Given the description of an element on the screen output the (x, y) to click on. 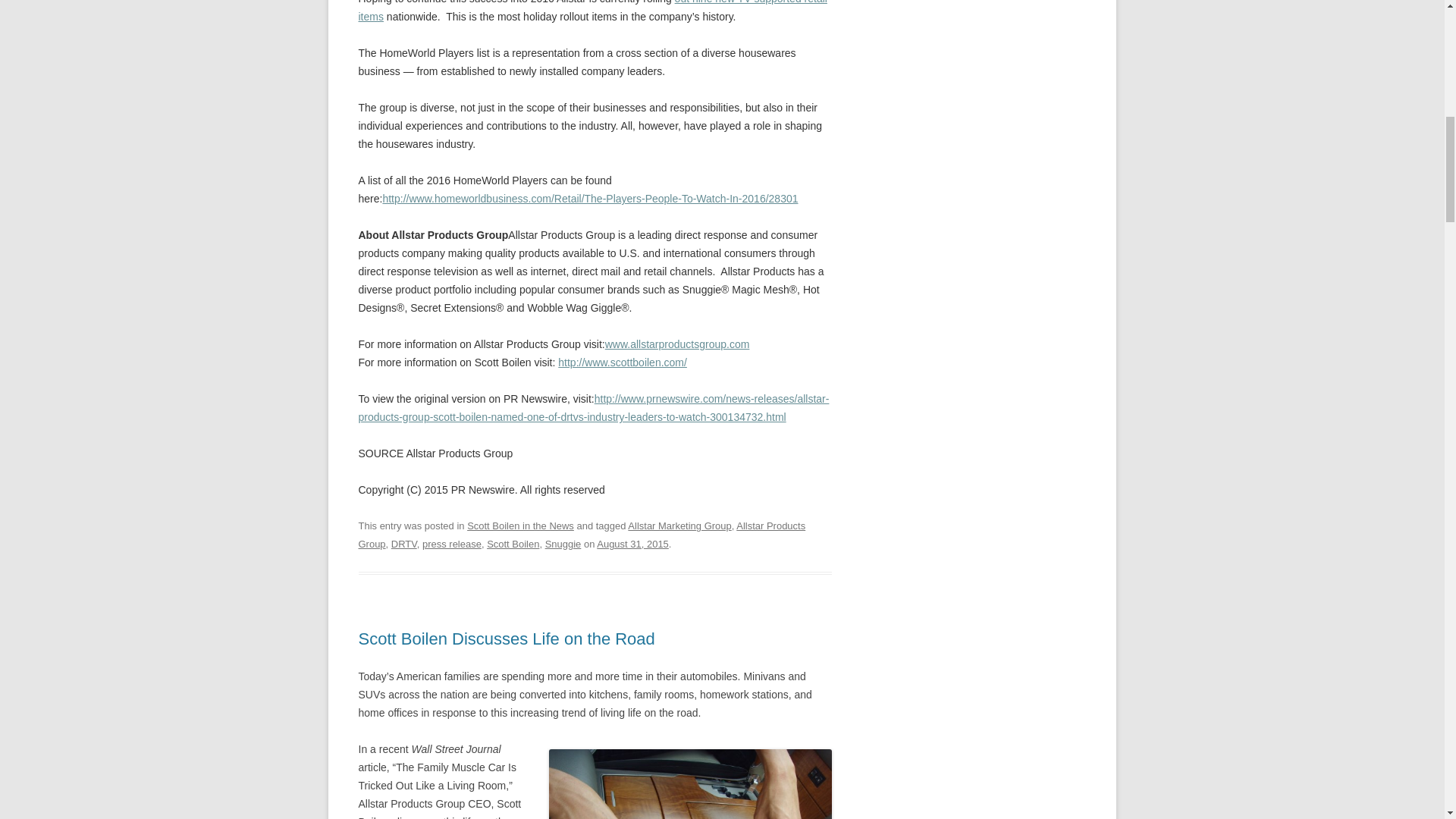
out nine new TV-supported retail items (592, 11)
press release (451, 543)
DRTV (403, 543)
Scott Boilen (512, 543)
August 31, 2015 (632, 543)
Scott Boilen Discusses Life on the Road (505, 638)
Scott Boilen in the News (520, 525)
www.allstarproductsgroup.com (677, 344)
Snuggie (562, 543)
7:27 pm (632, 543)
